Given the description of an element on the screen output the (x, y) to click on. 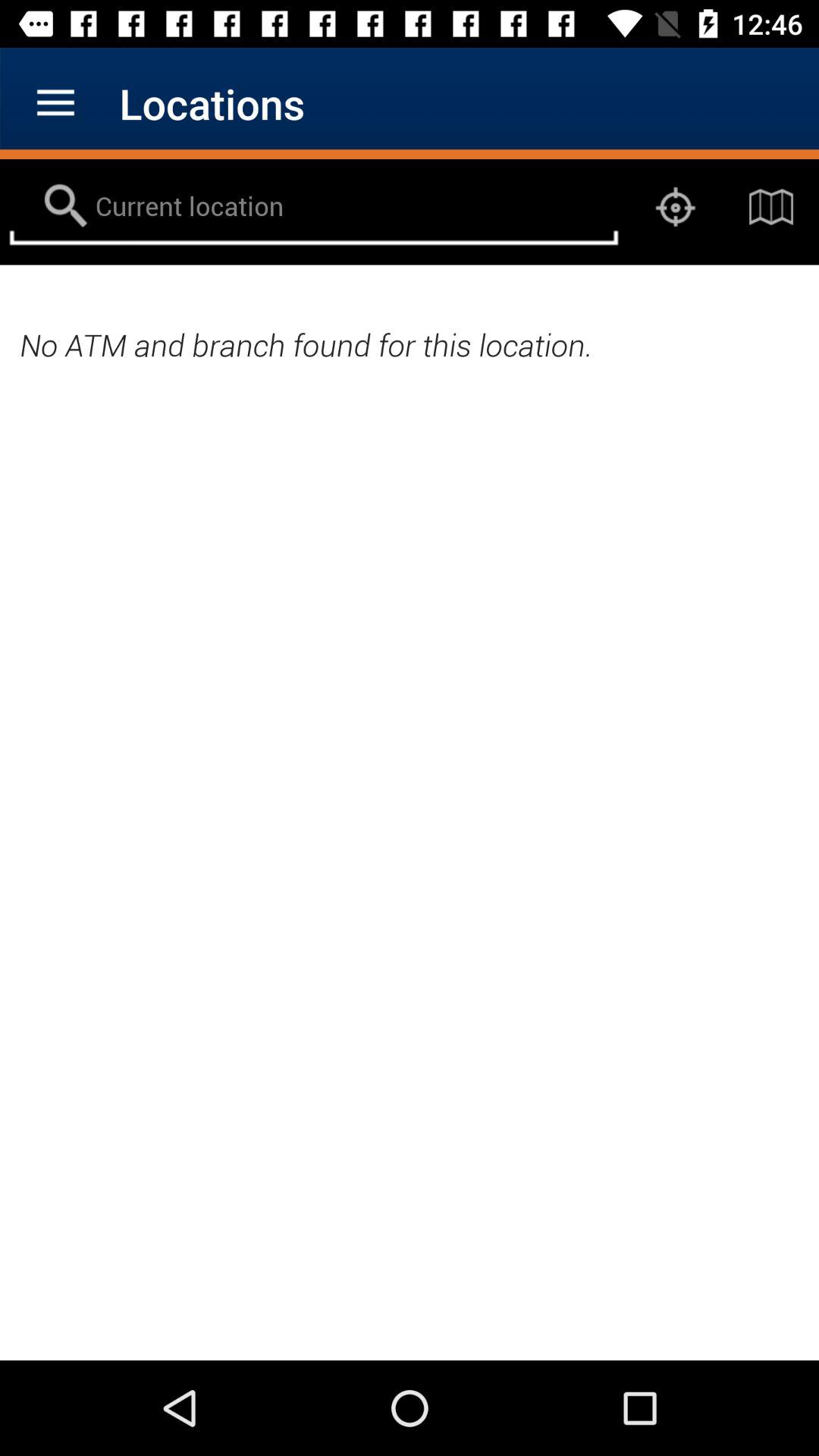
search location (313, 206)
